Given the description of an element on the screen output the (x, y) to click on. 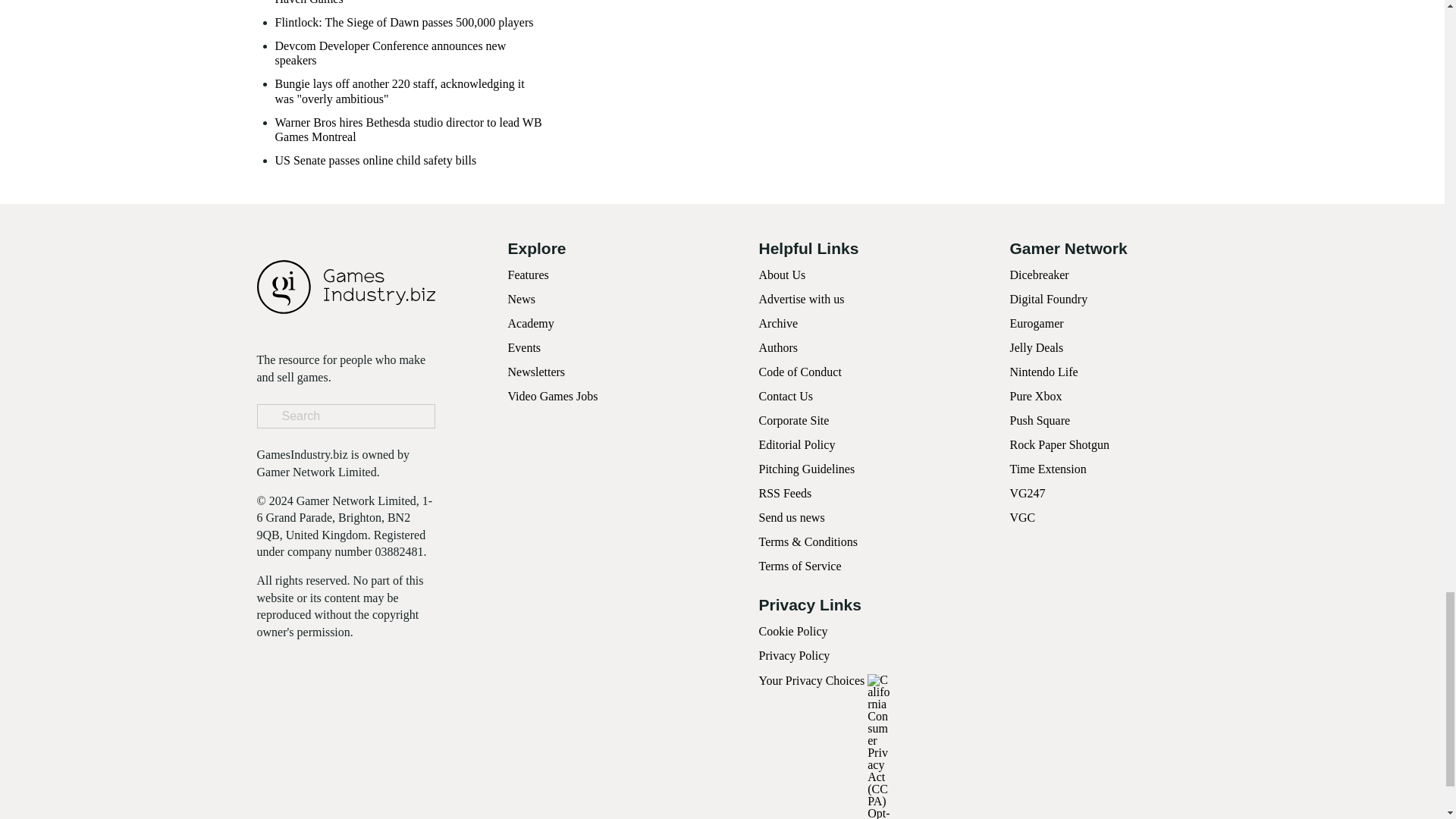
News (521, 298)
Flintlock: The Siege of Dawn passes 500,000 players (403, 22)
Events (524, 347)
About Us (781, 274)
Former Unity and Scopely developers form Outer Haven Games (409, 2)
Advertise with us (801, 298)
US Senate passes online child safety bills (375, 160)
Newsletters (537, 371)
Features (528, 274)
Video Games Jobs (553, 395)
Devcom Developer Conference announces new speakers (409, 52)
Academy (531, 323)
